Given the description of an element on the screen output the (x, y) to click on. 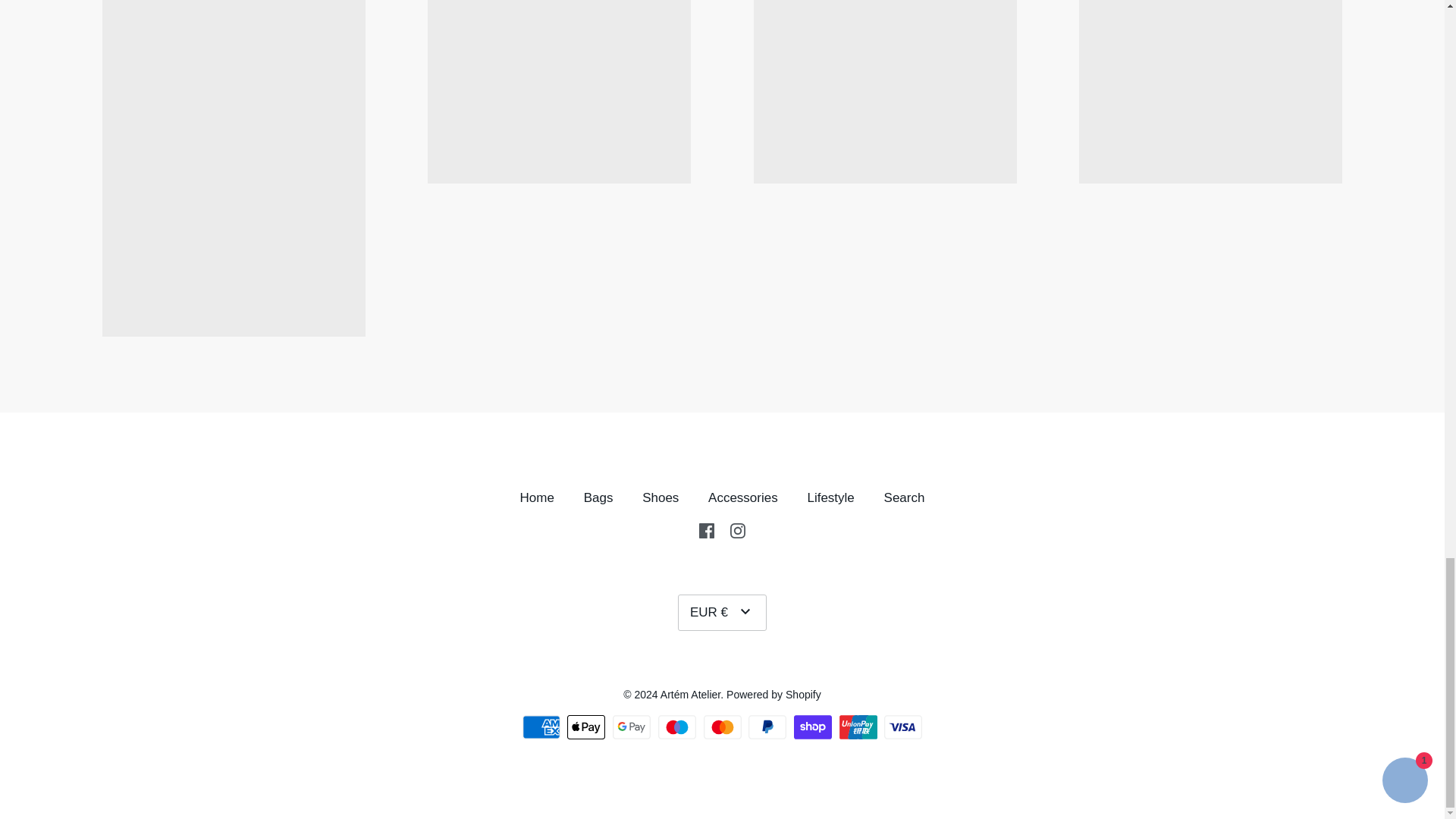
Shop Pay (812, 726)
Union Pay (858, 726)
Instagram (737, 529)
Facebook (706, 530)
Facebook (706, 529)
Instagram (737, 530)
PayPal (767, 726)
Maestro (676, 726)
Visa (902, 726)
Apple Pay (586, 726)
American Express (541, 726)
Google Pay (631, 726)
Mastercard (722, 726)
